Given the description of an element on the screen output the (x, y) to click on. 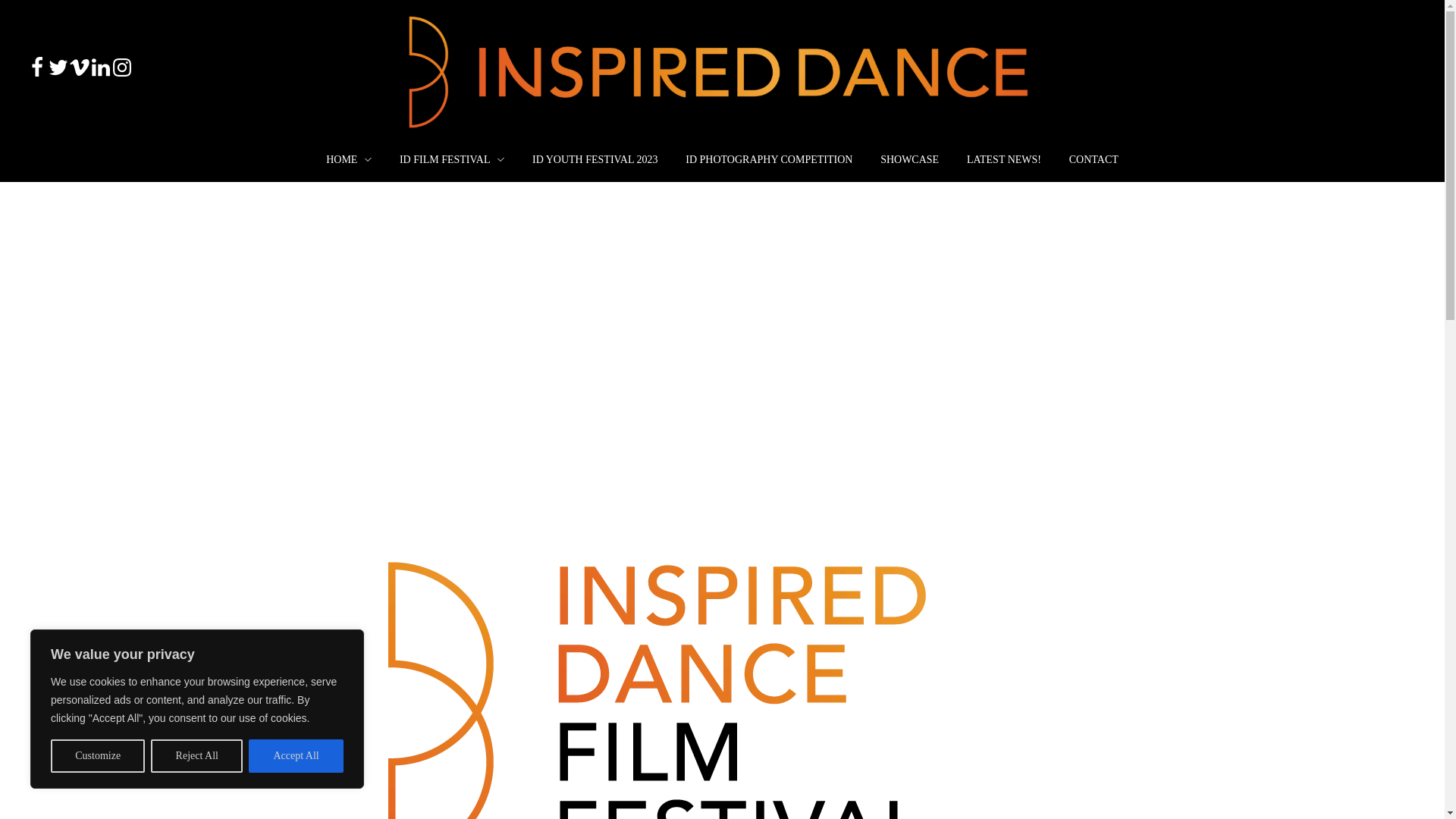
ID YOUTH FESTIVAL 2023 Element type: text (594, 159)
LATEST NEWS! Element type: text (1004, 159)
ID PHOTOGRAPHY COMPETITION Element type: text (768, 159)
Reject All Element type: text (196, 755)
CONTACT Element type: text (1085, 159)
HOME Element type: text (355, 159)
Accept All Element type: text (295, 755)
Customize Element type: text (97, 755)
SHOWCASE Element type: text (909, 159)
ID FILM FESTIVAL Element type: text (451, 159)
